Given the description of an element on the screen output the (x, y) to click on. 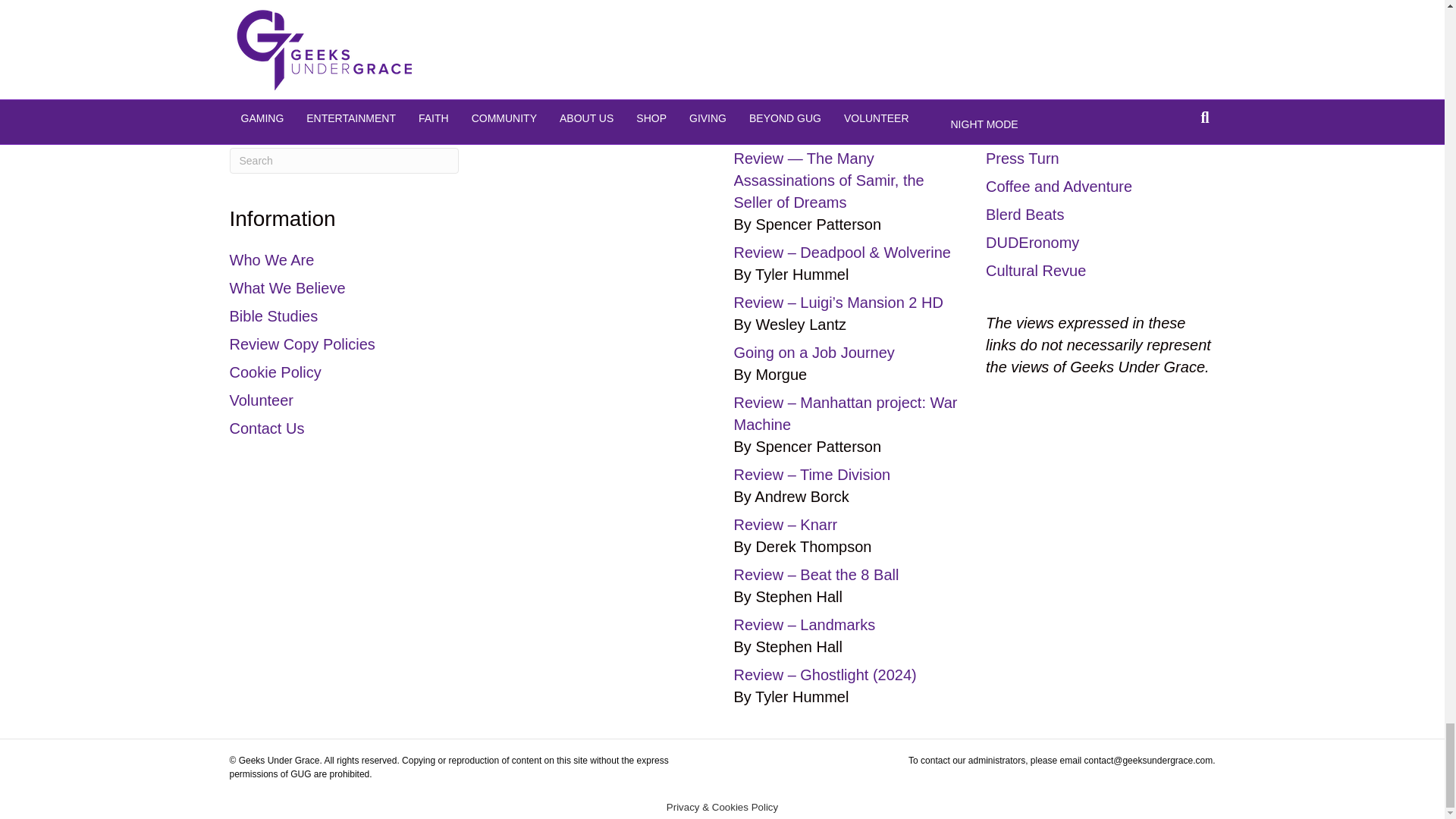
Type and press Enter to search. (343, 160)
Submit Comment (391, 2)
